Given the description of an element on the screen output the (x, y) to click on. 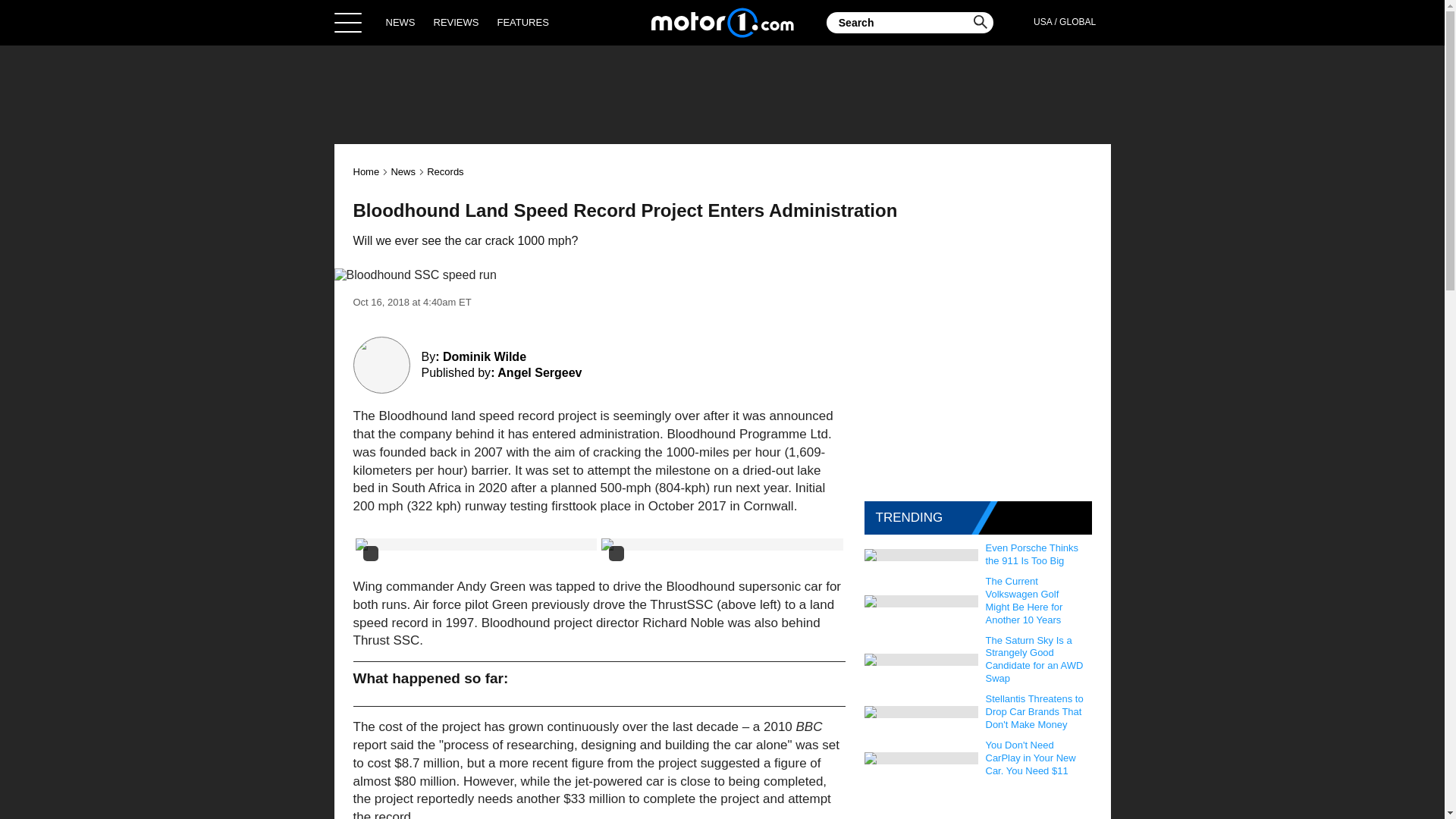
NEWS (399, 22)
Angel Sergeev (538, 372)
REVIEWS (456, 22)
Home (721, 22)
News (402, 171)
Home (366, 171)
Records (444, 171)
FEATURES (522, 22)
